Given the description of an element on the screen output the (x, y) to click on. 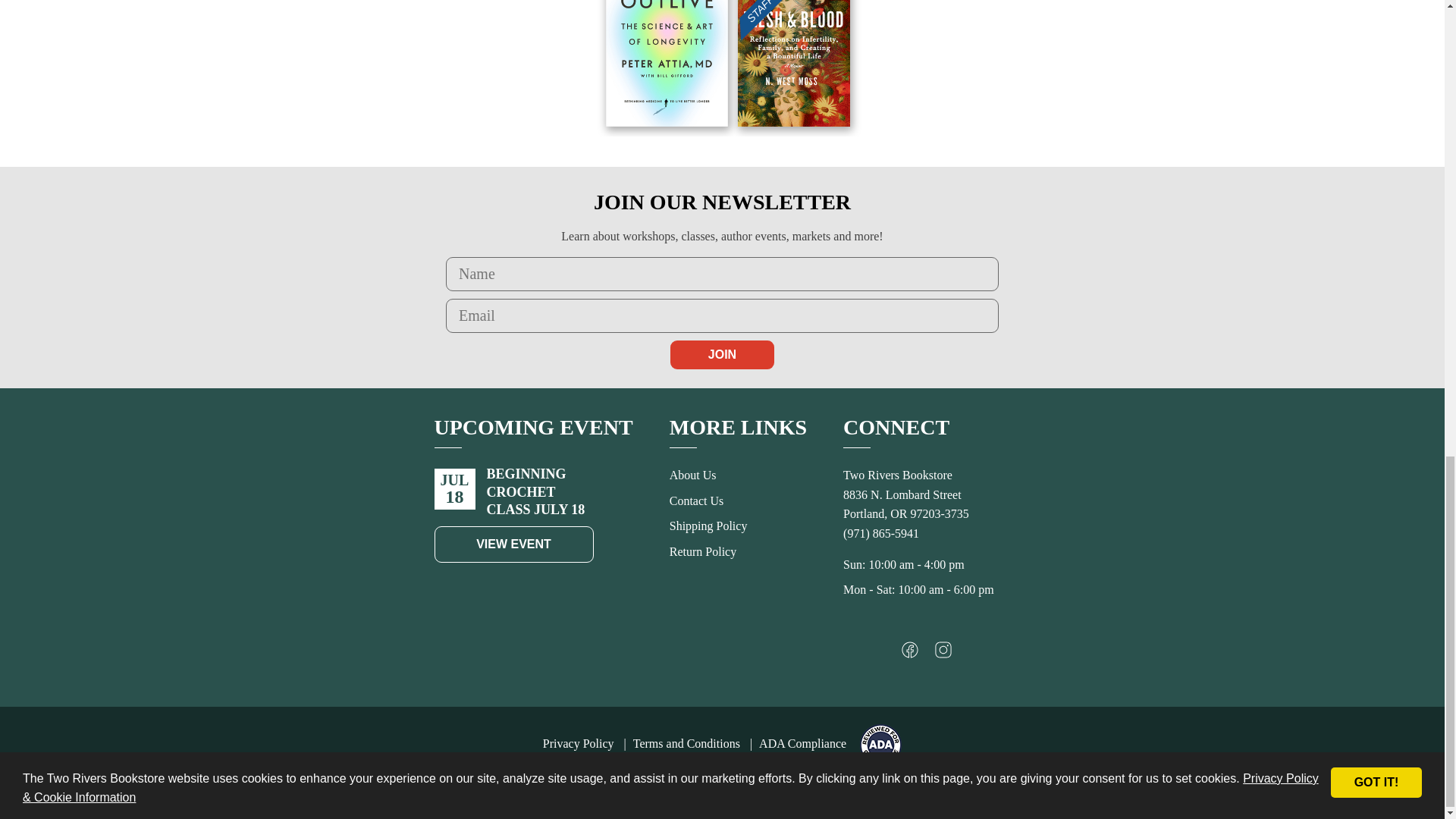
Connect with Instagram (943, 653)
Connect with Facebook (909, 653)
Join (721, 354)
